Given the description of an element on the screen output the (x, y) to click on. 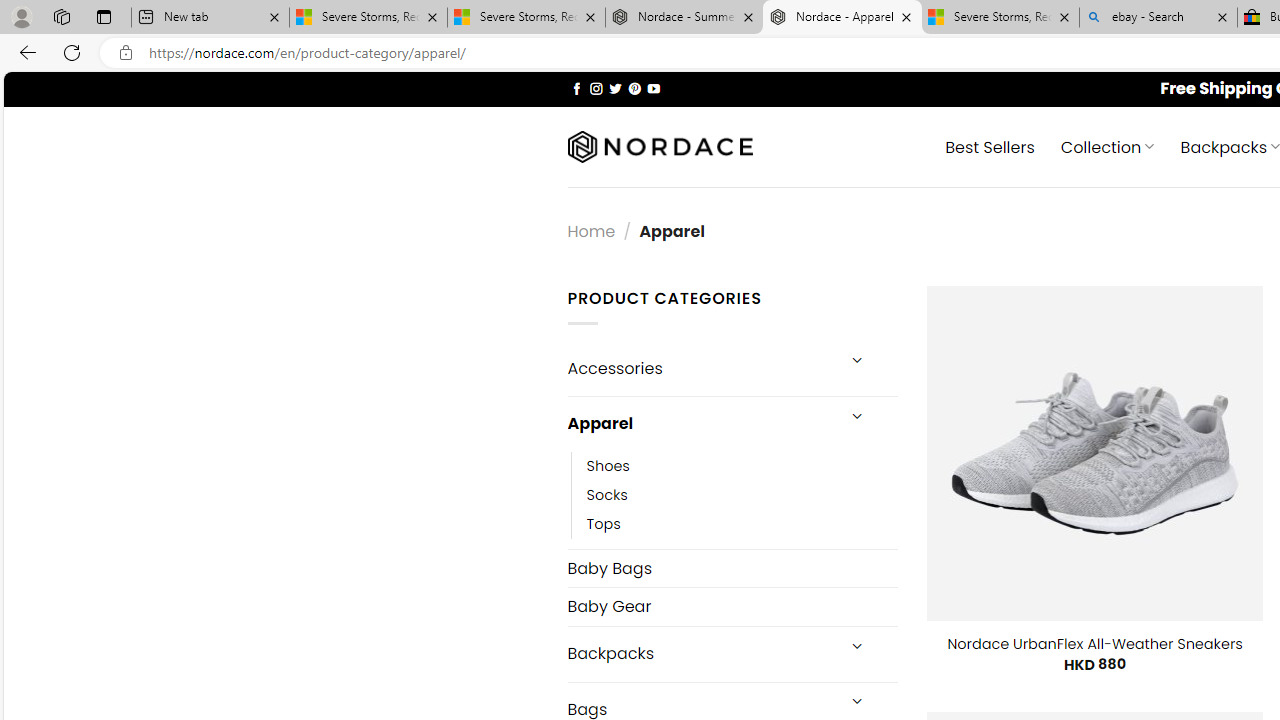
Nordace UrbanFlex All-Weather Sneakers (1094, 643)
Socks (607, 494)
Shoes (607, 465)
Baby Bags (732, 567)
 Best Sellers (989, 146)
Socks (742, 494)
Tops (742, 524)
Follow on Pinterest (634, 88)
Tops (603, 524)
